Given the description of an element on the screen output the (x, y) to click on. 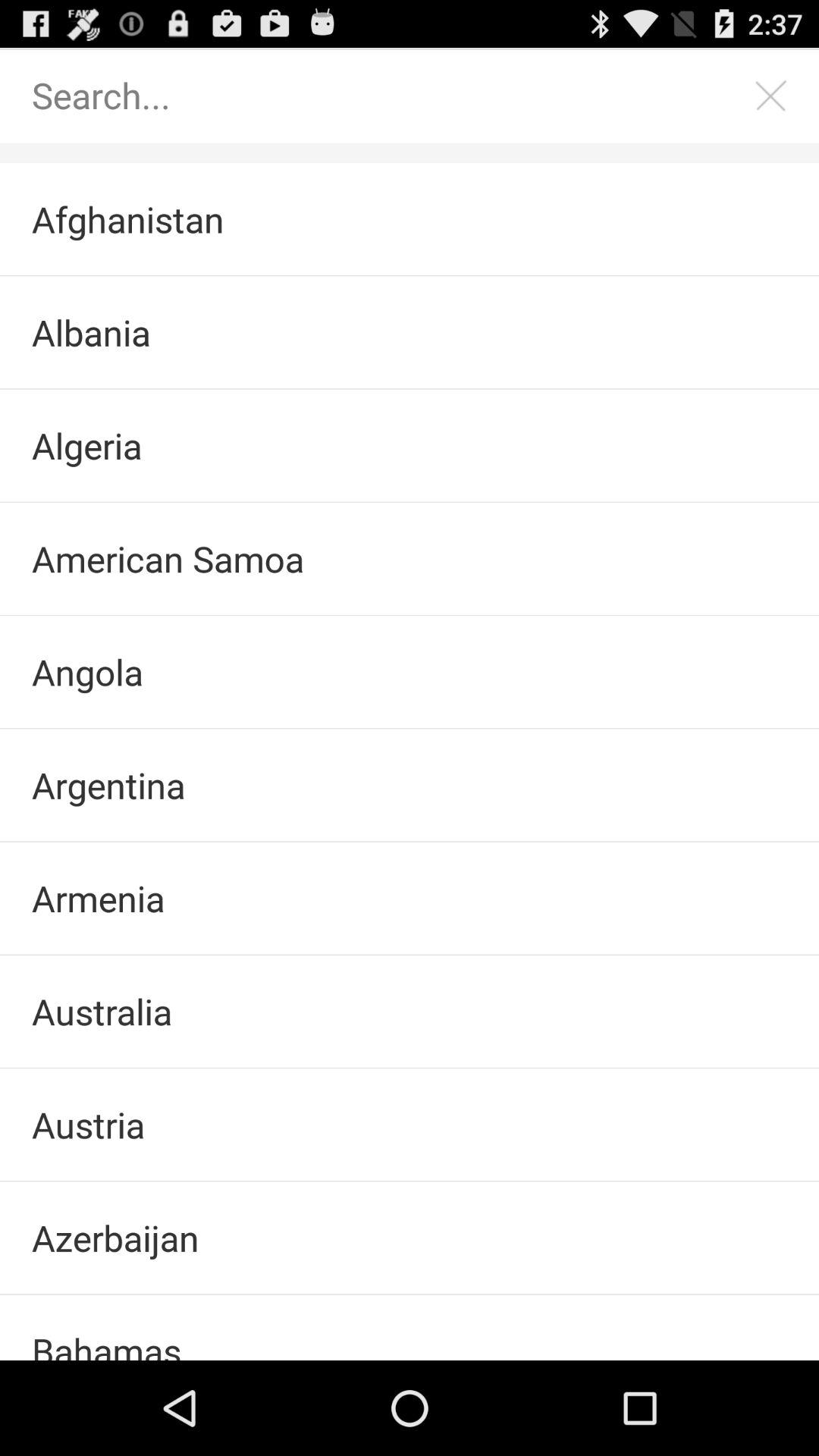
turn off albania (409, 332)
